Given the description of an element on the screen output the (x, y) to click on. 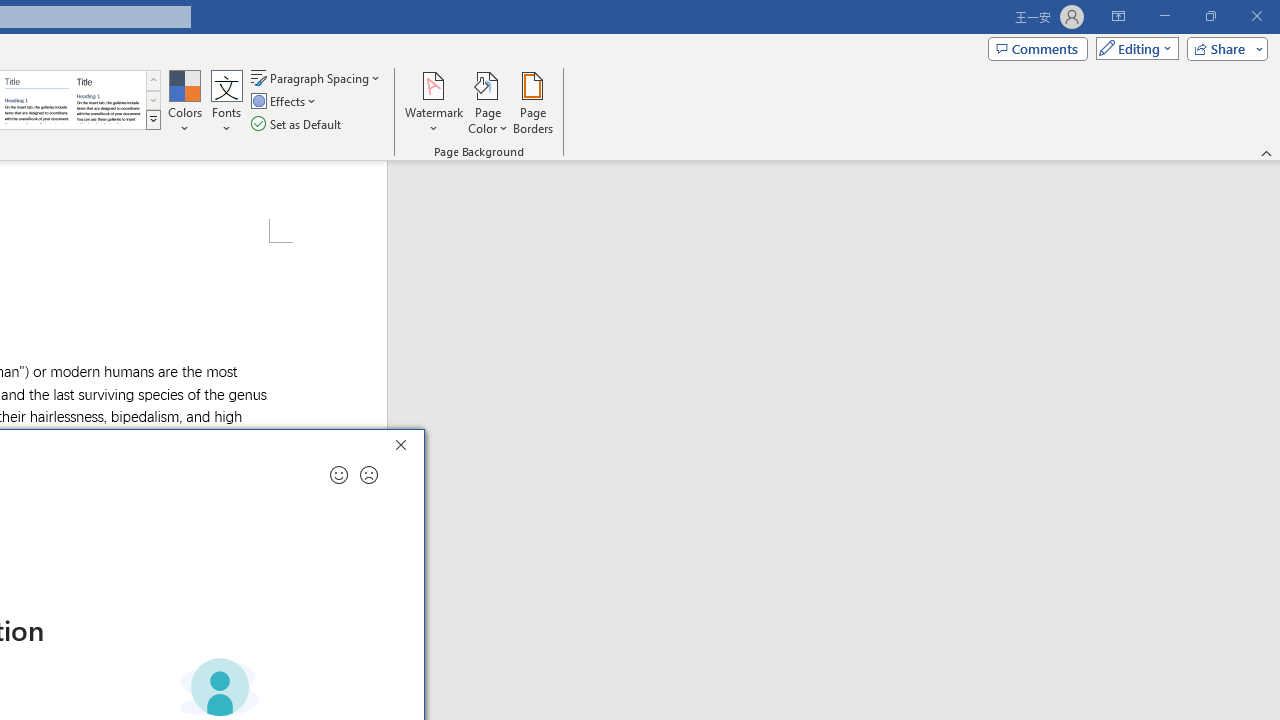
Page Borders... (532, 102)
Fonts (227, 102)
Watermark (434, 102)
Colors (184, 102)
Word 2010 (36, 100)
Word 2013 (108, 100)
Page Color (487, 102)
